Given the description of an element on the screen output the (x, y) to click on. 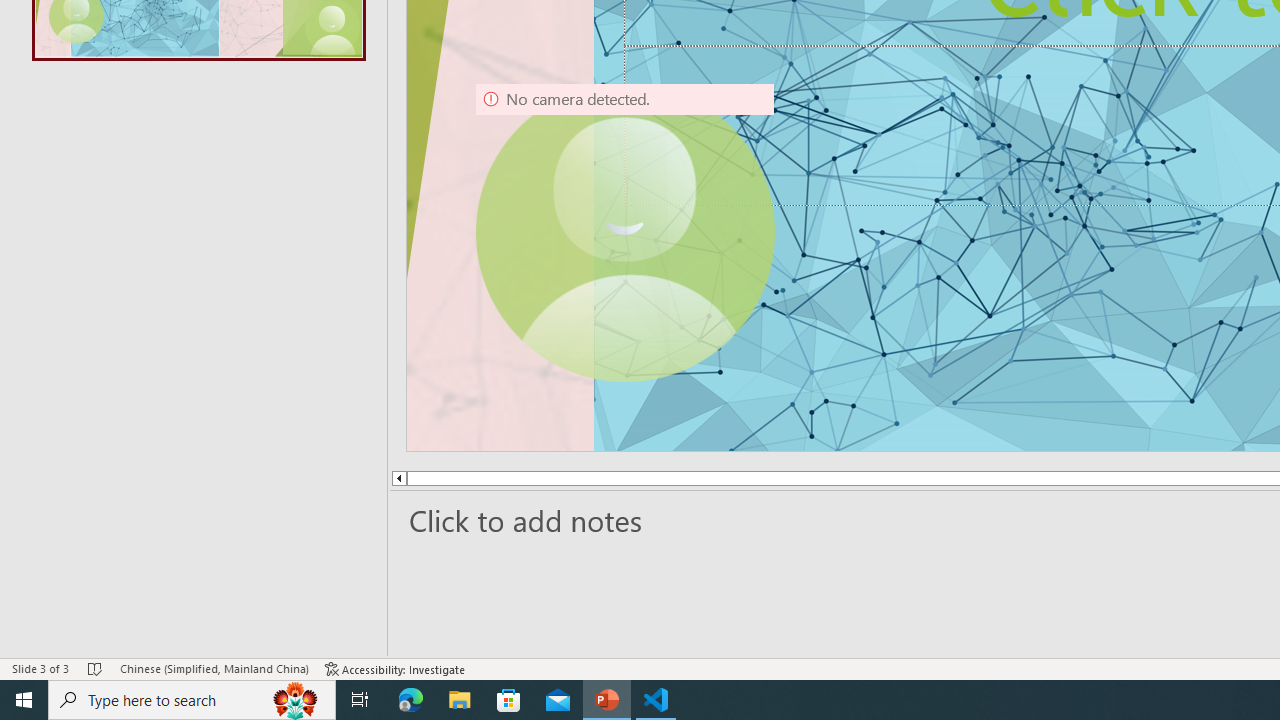
Camera 9, No camera detected. (624, 232)
